Given the description of an element on the screen output the (x, y) to click on. 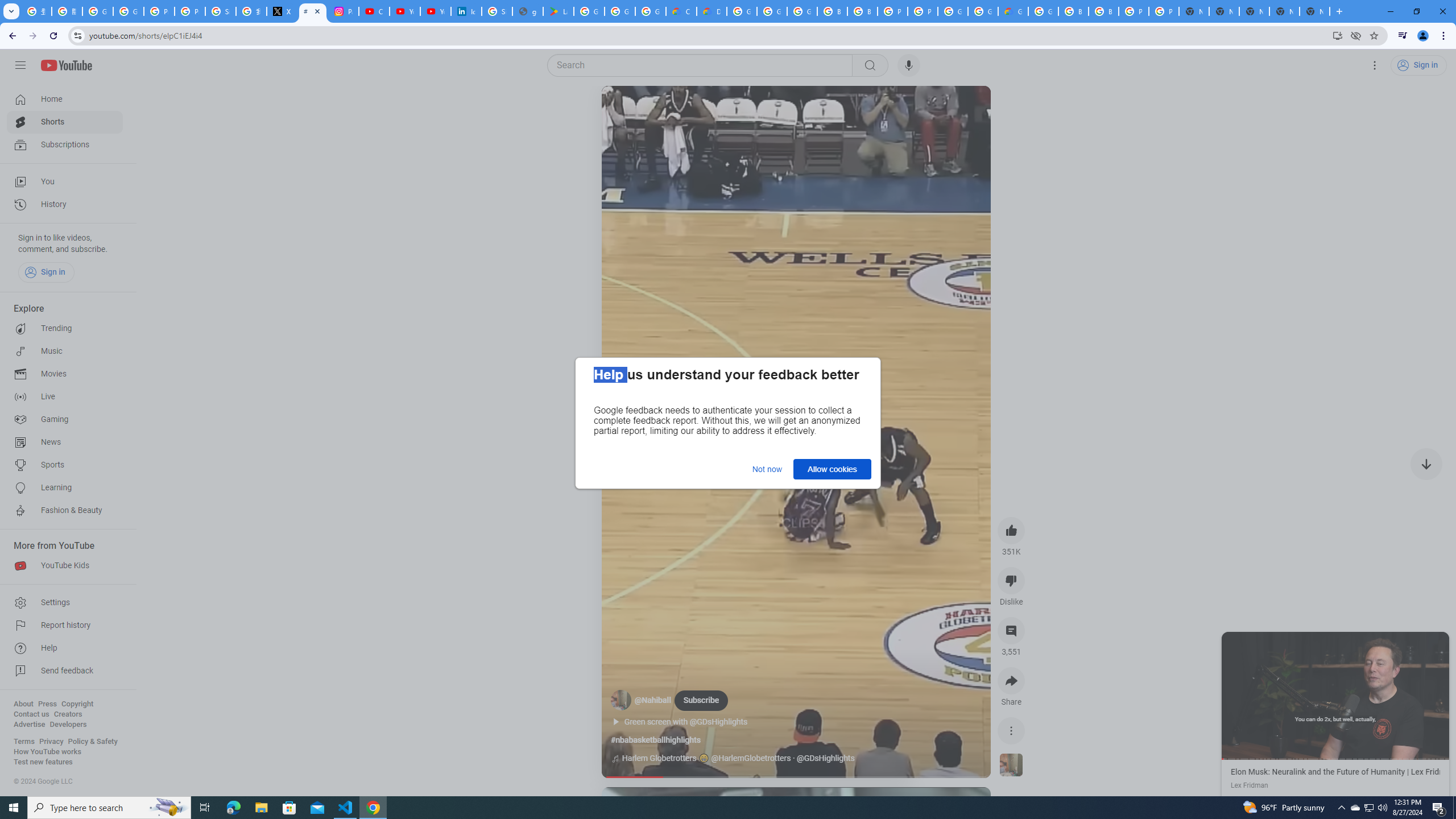
Advertise (29, 724)
Google Workspace - Specific Terms (619, 11)
X (282, 11)
Send feedback (64, 671)
Mute (660, 108)
About (23, 703)
Fashion & Beauty (64, 510)
Live (64, 396)
History (64, 204)
Contact us (31, 714)
#nbabasketballhighlights (655, 740)
